Given the description of an element on the screen output the (x, y) to click on. 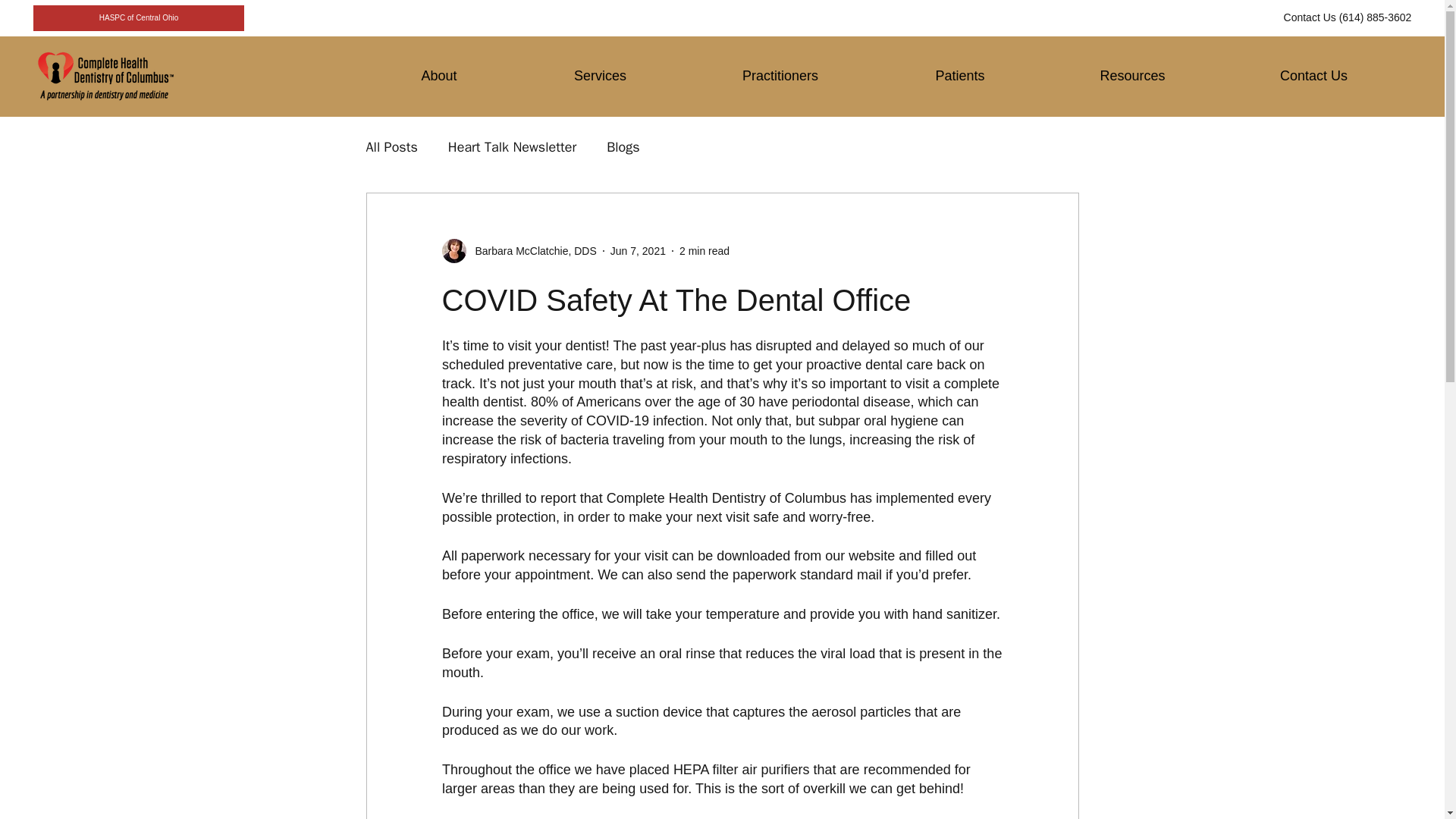
Contact Us (1313, 75)
All Posts (390, 147)
Resources (1131, 75)
Practitioners (779, 75)
About (438, 75)
HASPC of Central Ohio (138, 17)
Jun 7, 2021 (637, 250)
2 min read (704, 250)
Blogs (623, 147)
Heart Talk Newsletter (512, 147)
Patients (959, 75)
Services (599, 75)
Barbara McClatchie, DDS (530, 251)
